Given the description of an element on the screen output the (x, y) to click on. 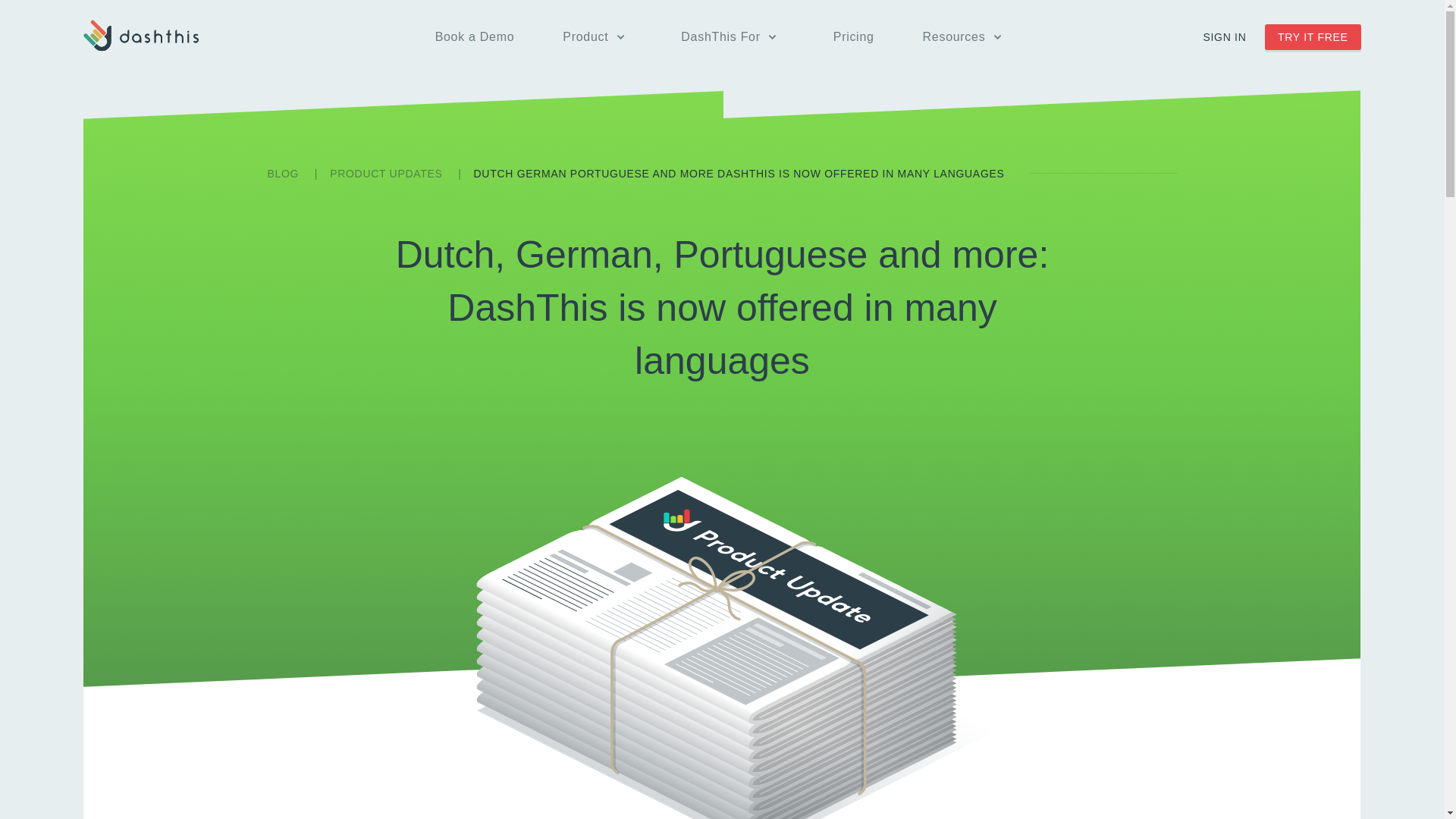
TRY IT FREE (1313, 36)
Pricing (853, 37)
PRODUCT UPDATES (387, 173)
BLOG (283, 173)
Book a Demo (475, 37)
SIGN IN (1224, 37)
